Given the description of an element on the screen output the (x, y) to click on. 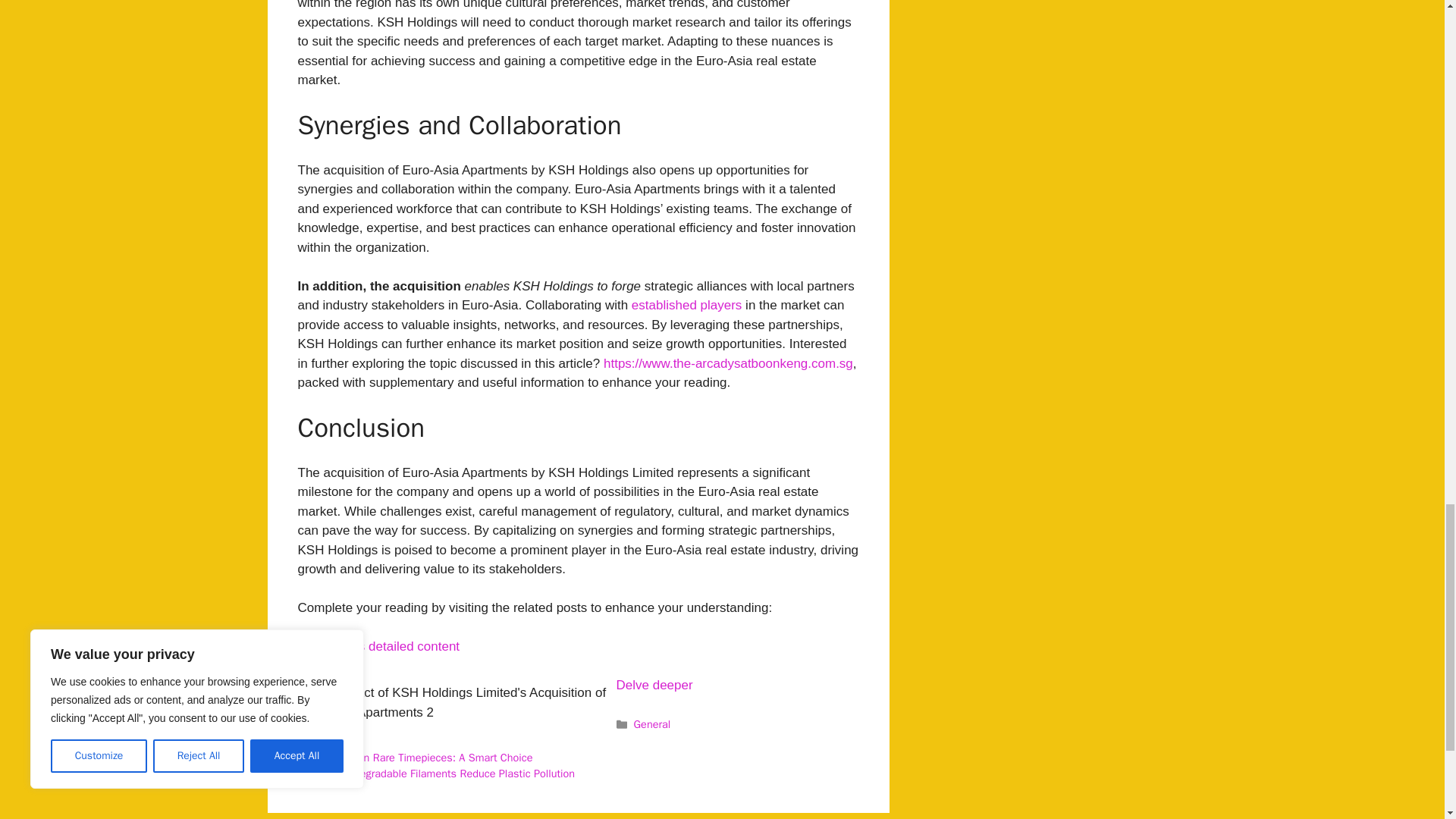
Investing in Rare Timepieces: A Smart Choice (423, 757)
General (652, 724)
Explore this detailed content (378, 646)
Delve deeper (654, 685)
guidelines (339, 740)
How Biodegradable Filaments Reduce Plastic Pollution (445, 773)
established players (686, 305)
